Given the description of an element on the screen output the (x, y) to click on. 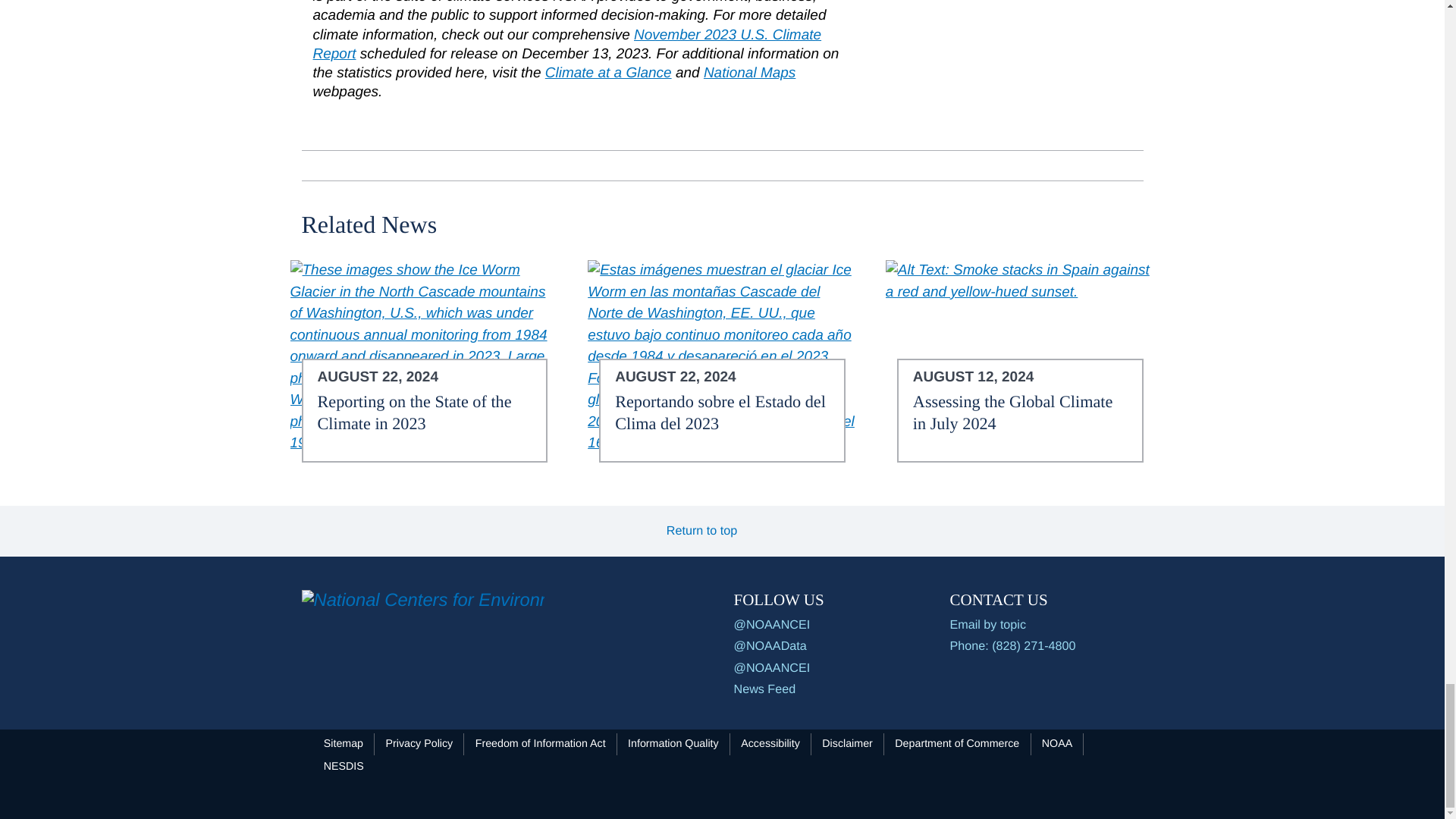
Call NCEI NOAA 828-271-4800 (1045, 646)
National Centers for Environmental Information logo (422, 599)
Contact NCEI NOAA via email (1045, 625)
Home (422, 600)
Assessing the Global Climate in July 2024 (1019, 281)
Link to subscribe to NCEI News Feed (772, 689)
